Given the description of an element on the screen output the (x, y) to click on. 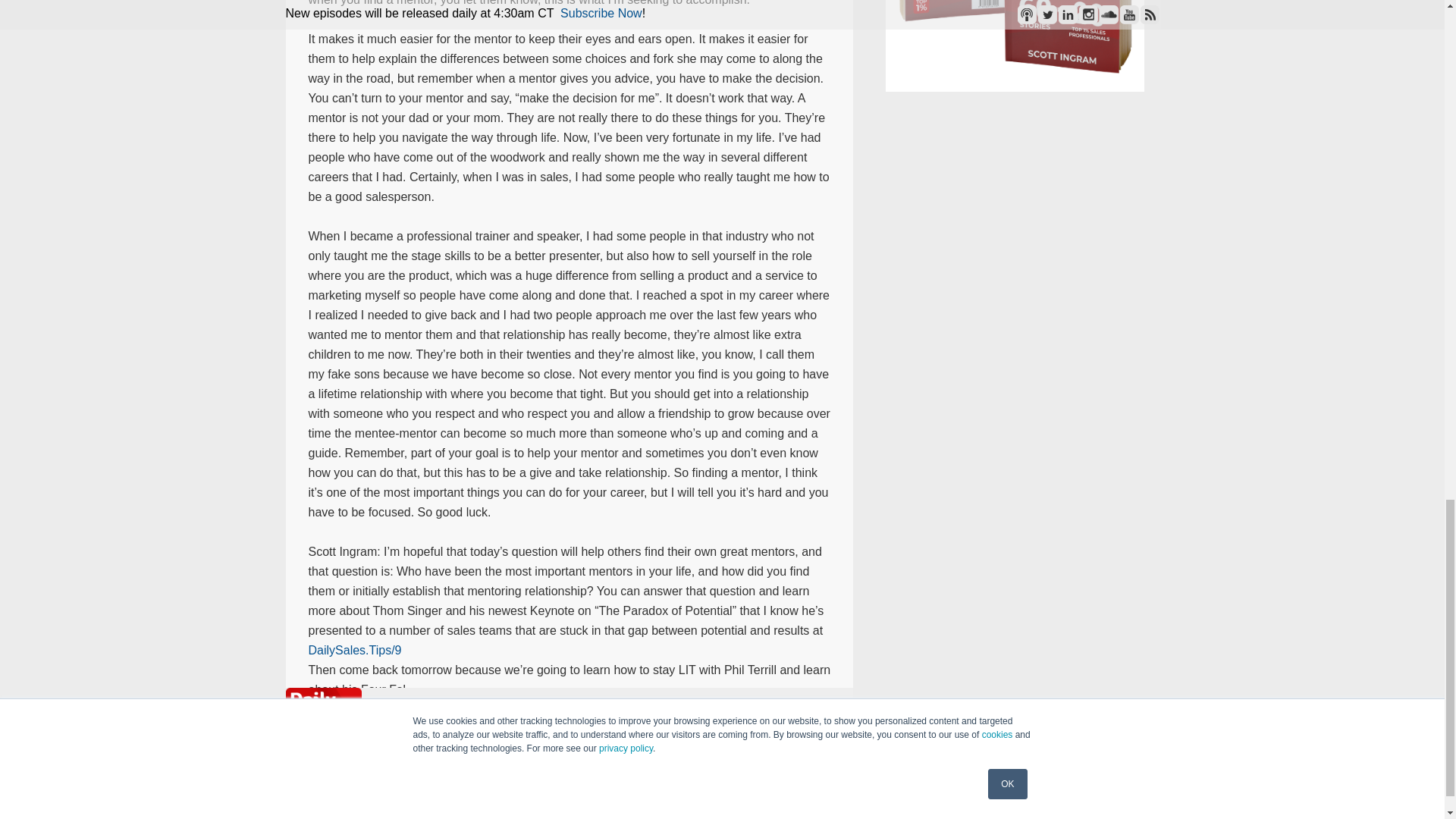
Download (794, 728)
Download (795, 728)
More (824, 728)
